Given the description of an element on the screen output the (x, y) to click on. 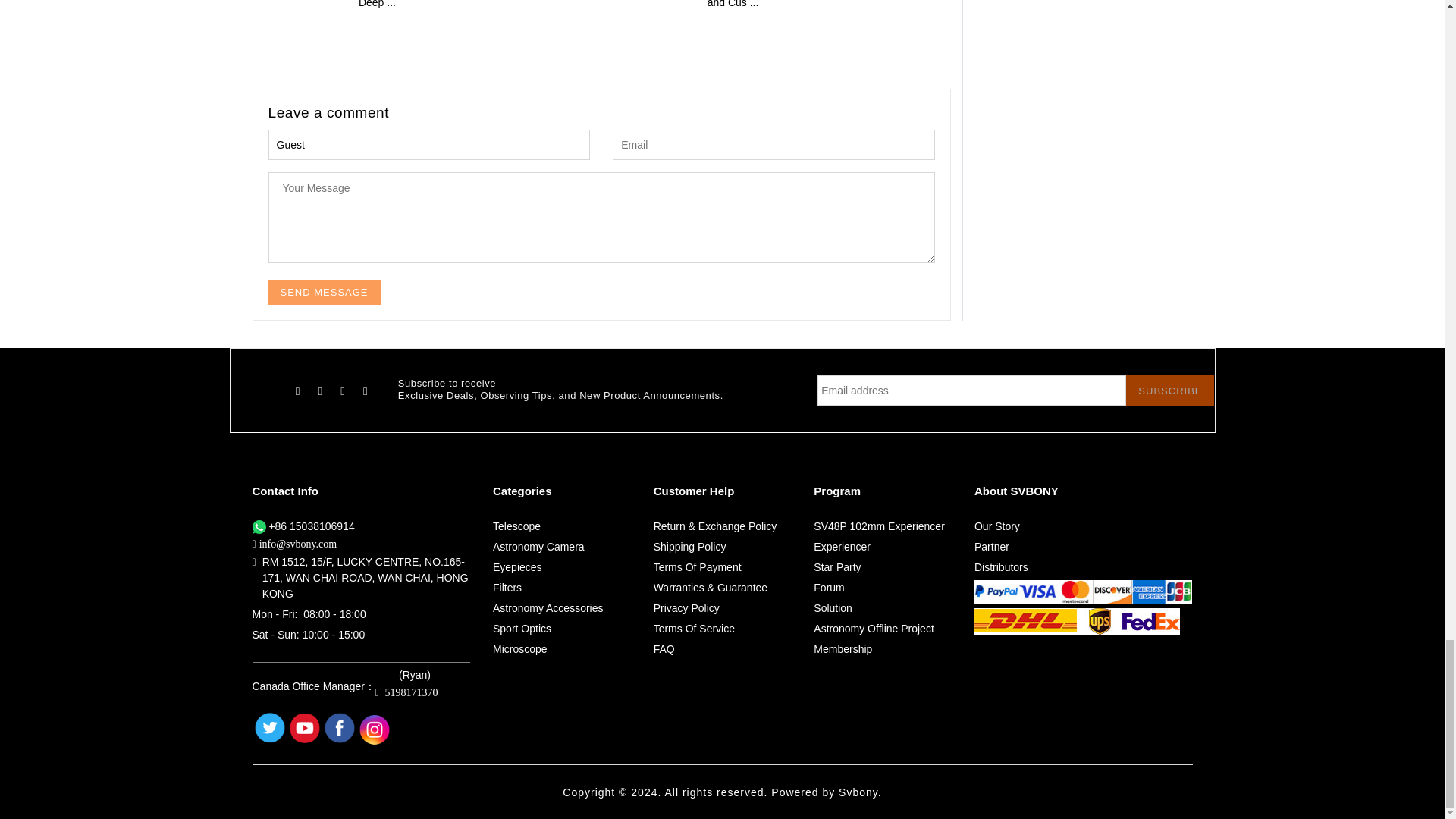
Send Message (323, 292)
Telescope (516, 526)
Guest (429, 144)
whatsapp (257, 526)
